Given the description of an element on the screen output the (x, y) to click on. 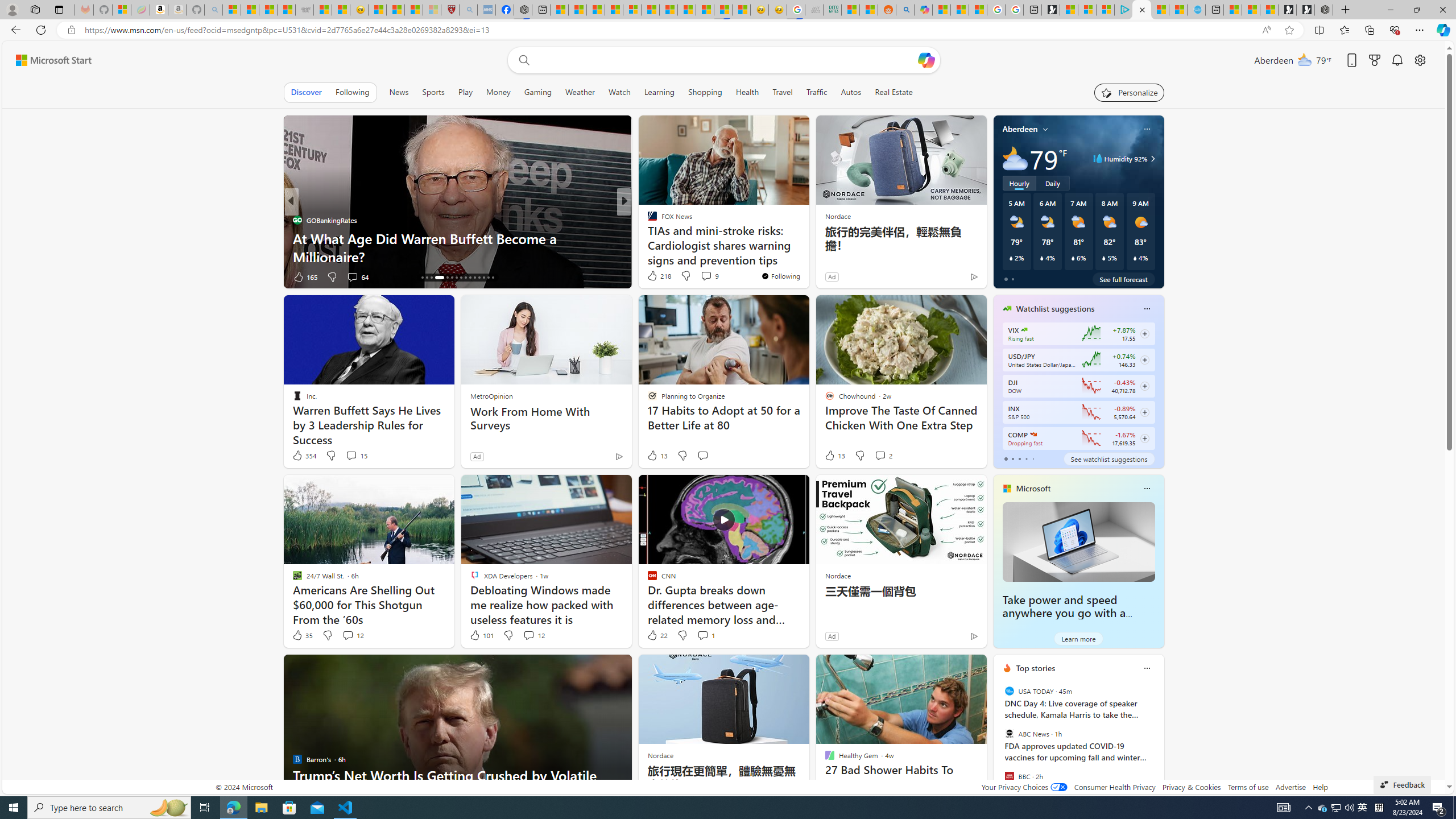
AutomationID: tab-23 (460, 277)
View comments 66 Comment (707, 276)
tab-3 (1025, 458)
View comments 12 Comment (528, 635)
